Given the description of an element on the screen output the (x, y) to click on. 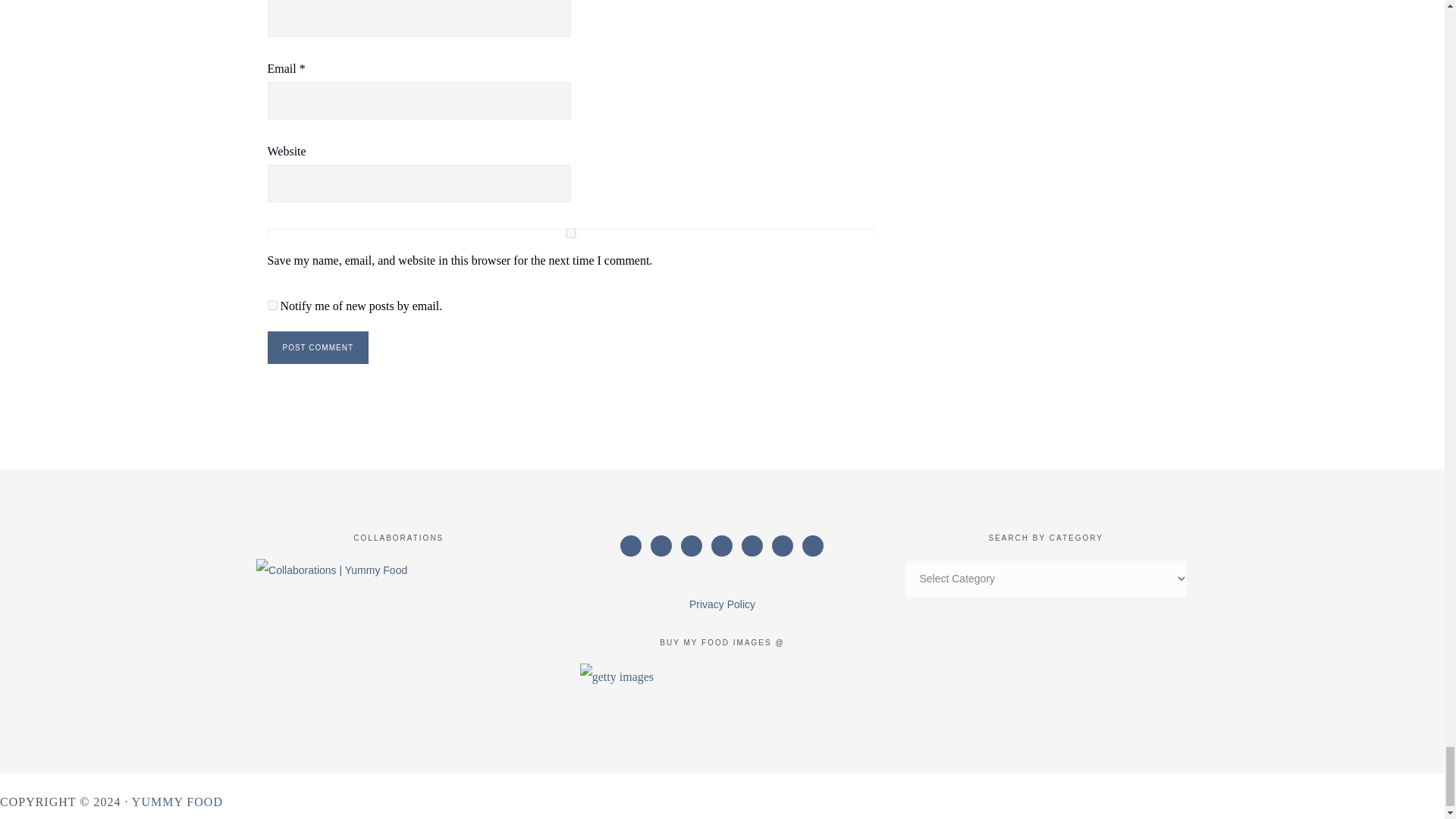
Post Comment (317, 347)
yes (569, 233)
subscribe (271, 305)
